Given the description of an element on the screen output the (x, y) to click on. 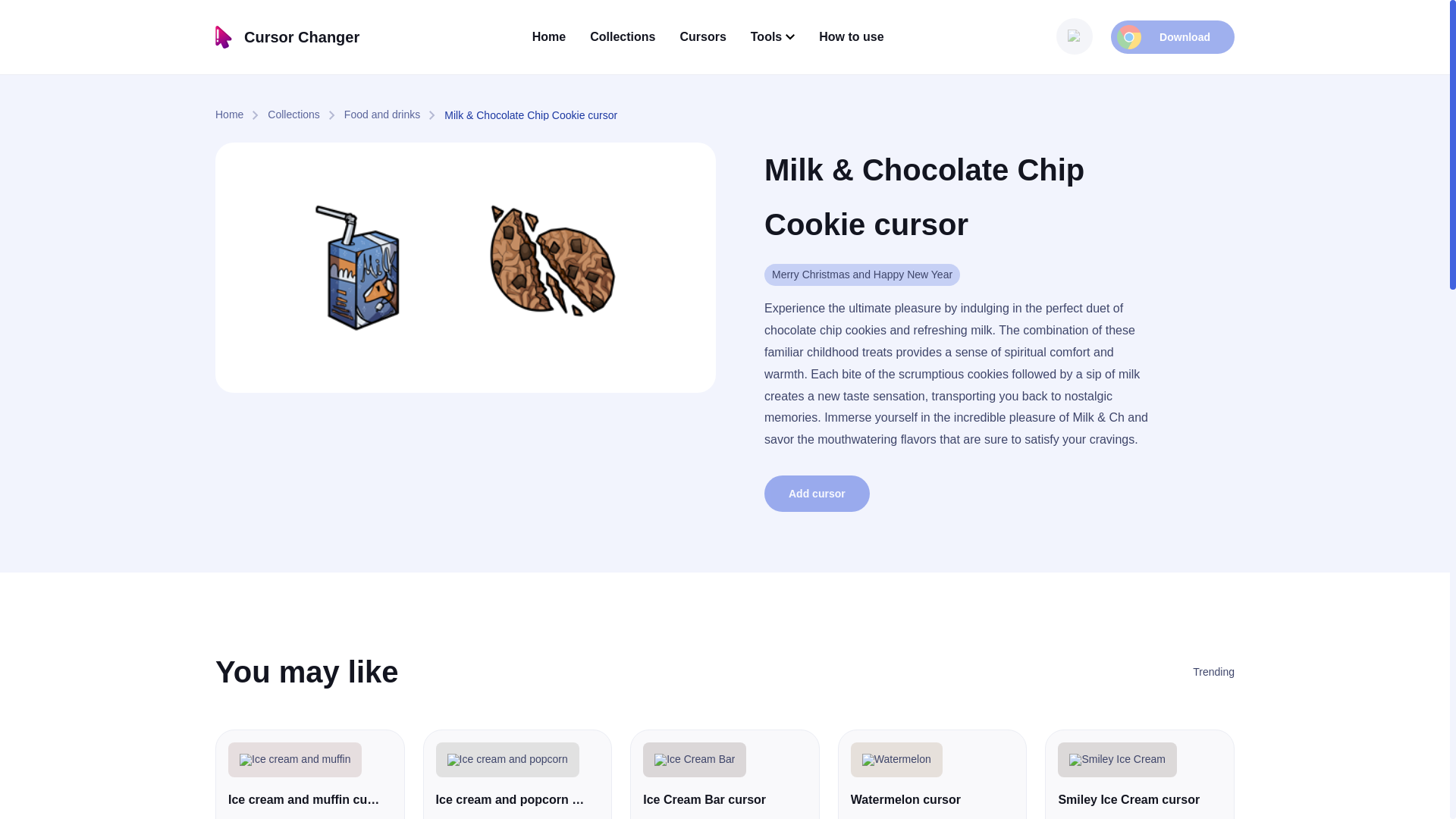
Food and drinks (393, 114)
Cursors (702, 36)
Food and drinks (393, 114)
Home (549, 36)
Collections (622, 36)
Home (241, 114)
Download (1172, 37)
How to use (850, 36)
Collections (305, 114)
Add cursor (816, 493)
